Given the description of an element on the screen output the (x, y) to click on. 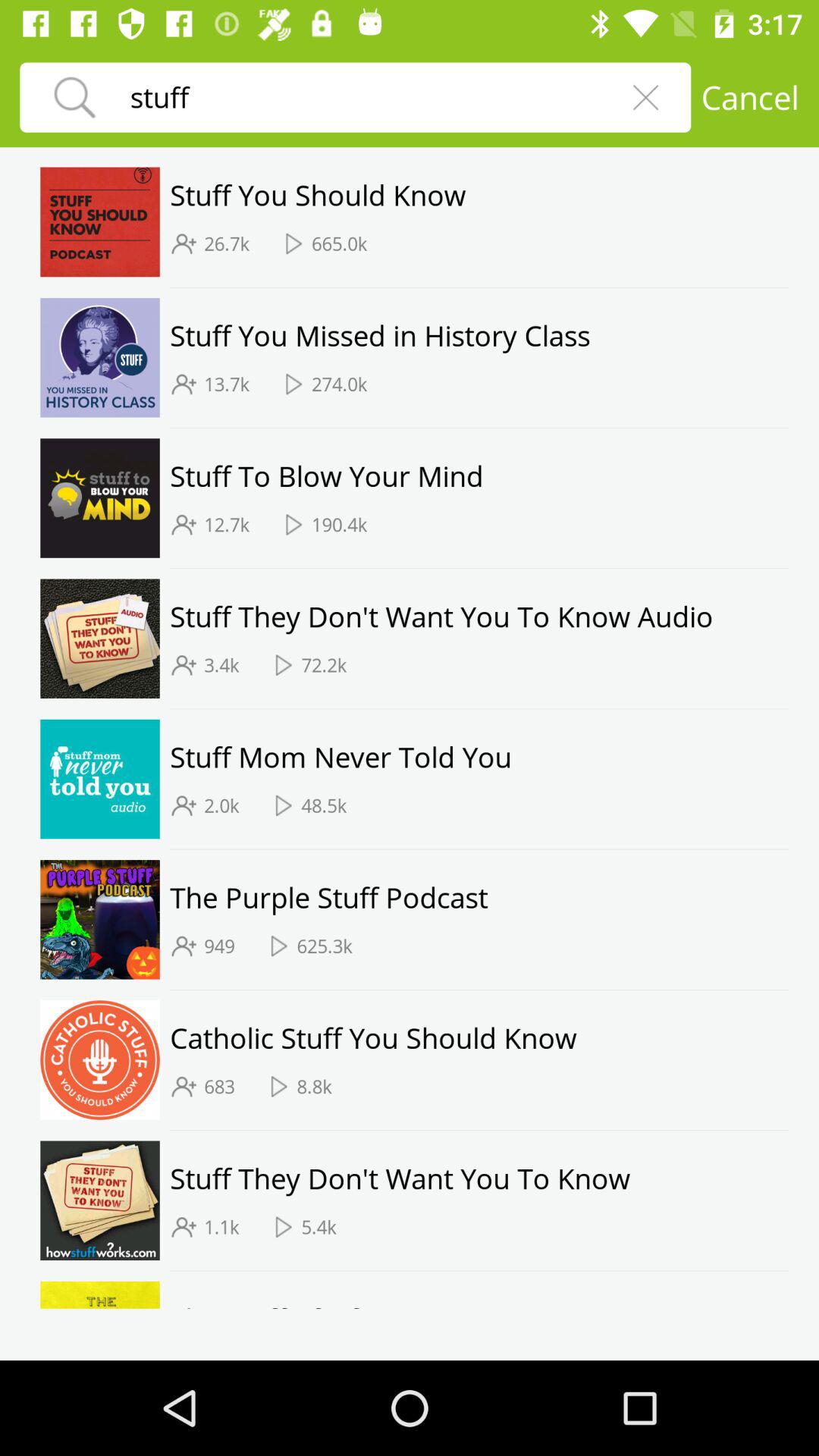
clear the input text clear the search input (645, 97)
